Given the description of an element on the screen output the (x, y) to click on. 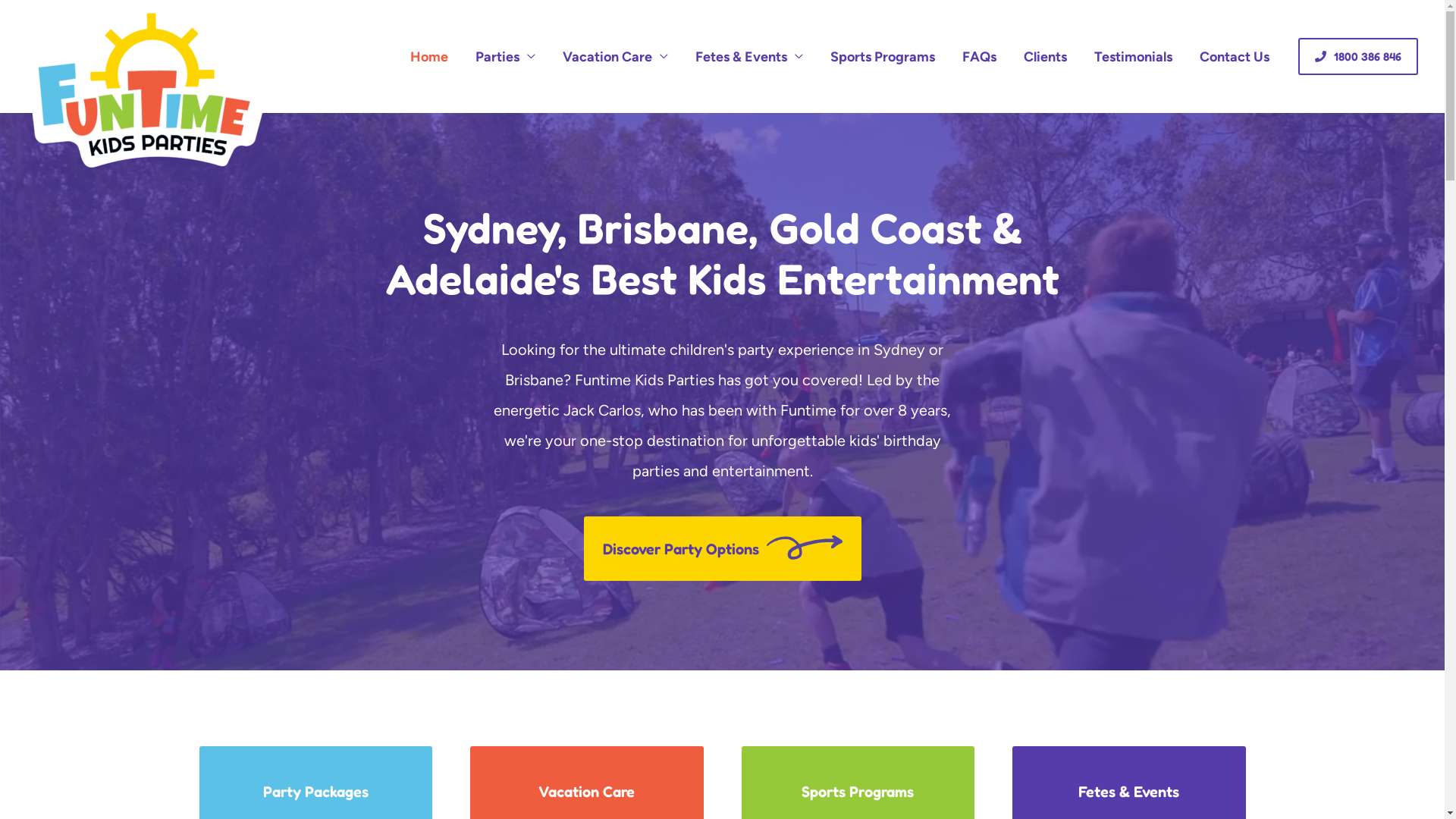
Clients Element type: text (1045, 56)
Home Element type: text (428, 56)
Vacation Care Element type: text (615, 56)
Sports Programs Element type: text (882, 56)
Discover Party Options Element type: text (722, 548)
Fetes & Events Element type: text (748, 56)
Testimonials Element type: text (1133, 56)
Parties Element type: text (505, 56)
1800 386 846 Element type: text (1358, 56)
Contact Us Element type: text (1234, 56)
FAQs Element type: text (979, 56)
